Given the description of an element on the screen output the (x, y) to click on. 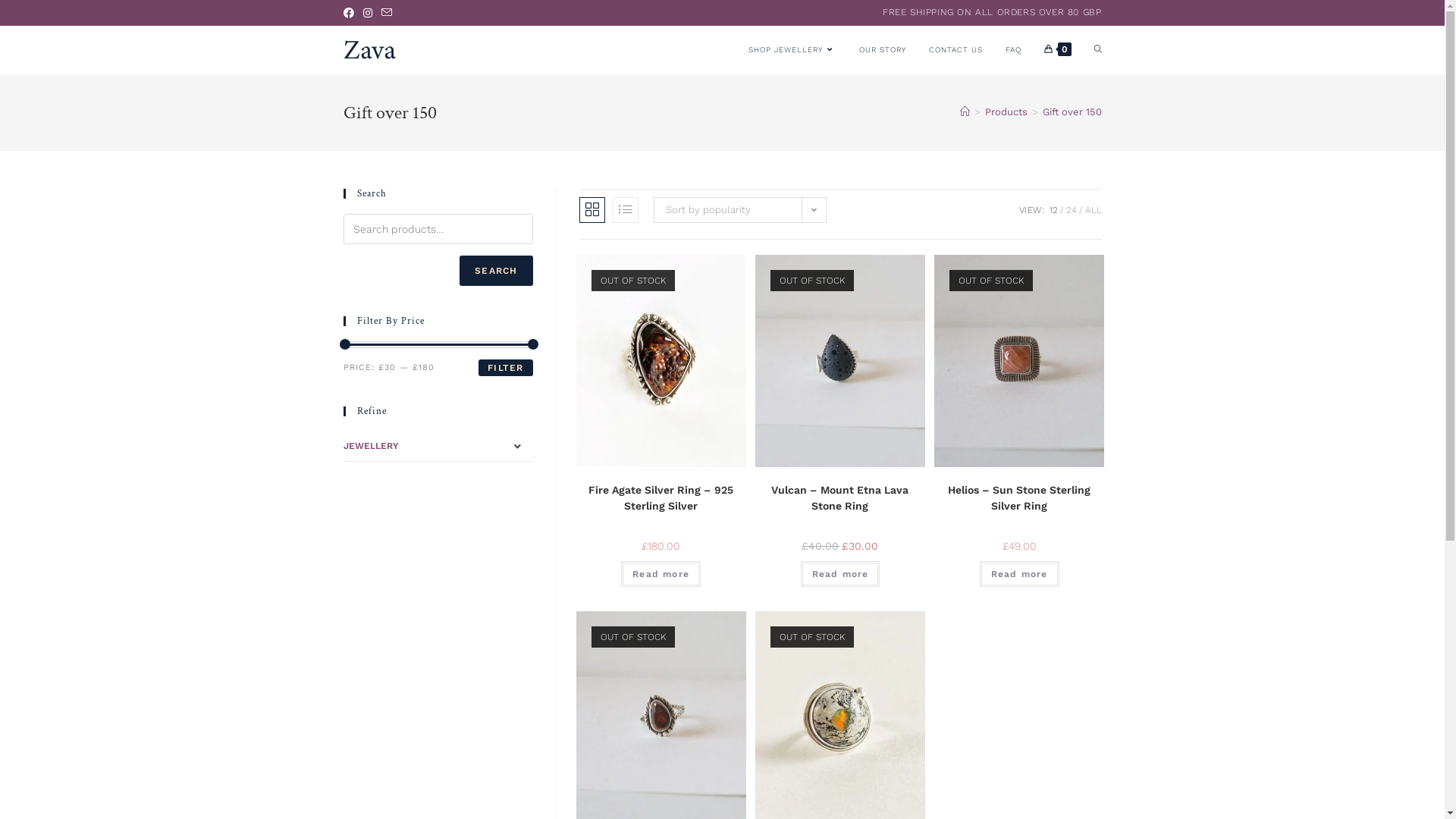
SEARCH Element type: text (495, 270)
OUR STORY Element type: text (882, 49)
0 Element type: text (1057, 49)
Grid view Element type: hover (592, 209)
Read more Element type: text (660, 573)
JEWELLERY Element type: text (437, 446)
ALL Element type: text (1092, 209)
FILTER Element type: text (505, 367)
CONTACT US Element type: text (955, 49)
List view Element type: hover (625, 209)
Read more Element type: text (840, 573)
24 Element type: text (1071, 209)
12 Element type: text (1053, 209)
Products Element type: text (1005, 111)
FAQ Element type: text (1012, 49)
Read more Element type: text (1019, 573)
SHOP JEWELLERY Element type: text (792, 49)
Gift over 150 Element type: text (1071, 111)
